Given the description of an element on the screen output the (x, y) to click on. 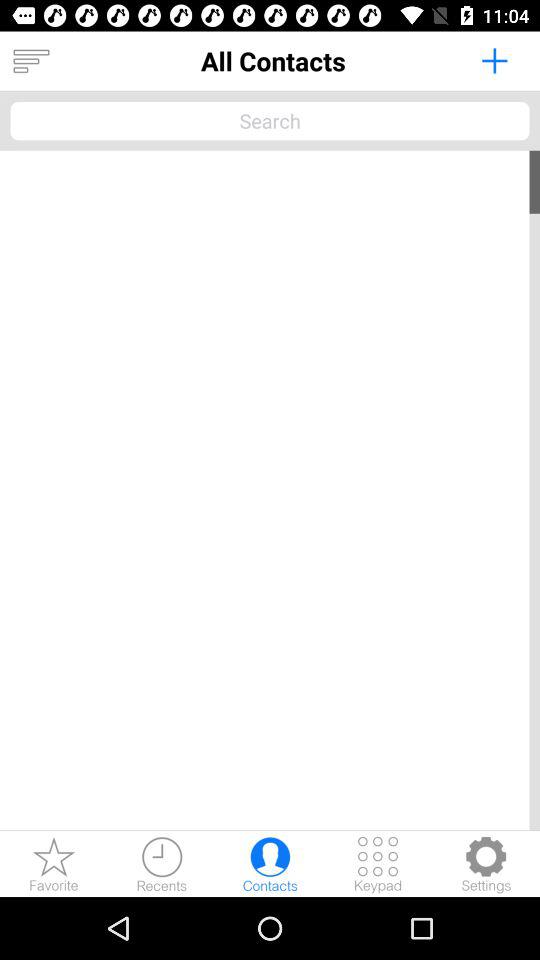
contacts search (270, 120)
